Given the description of an element on the screen output the (x, y) to click on. 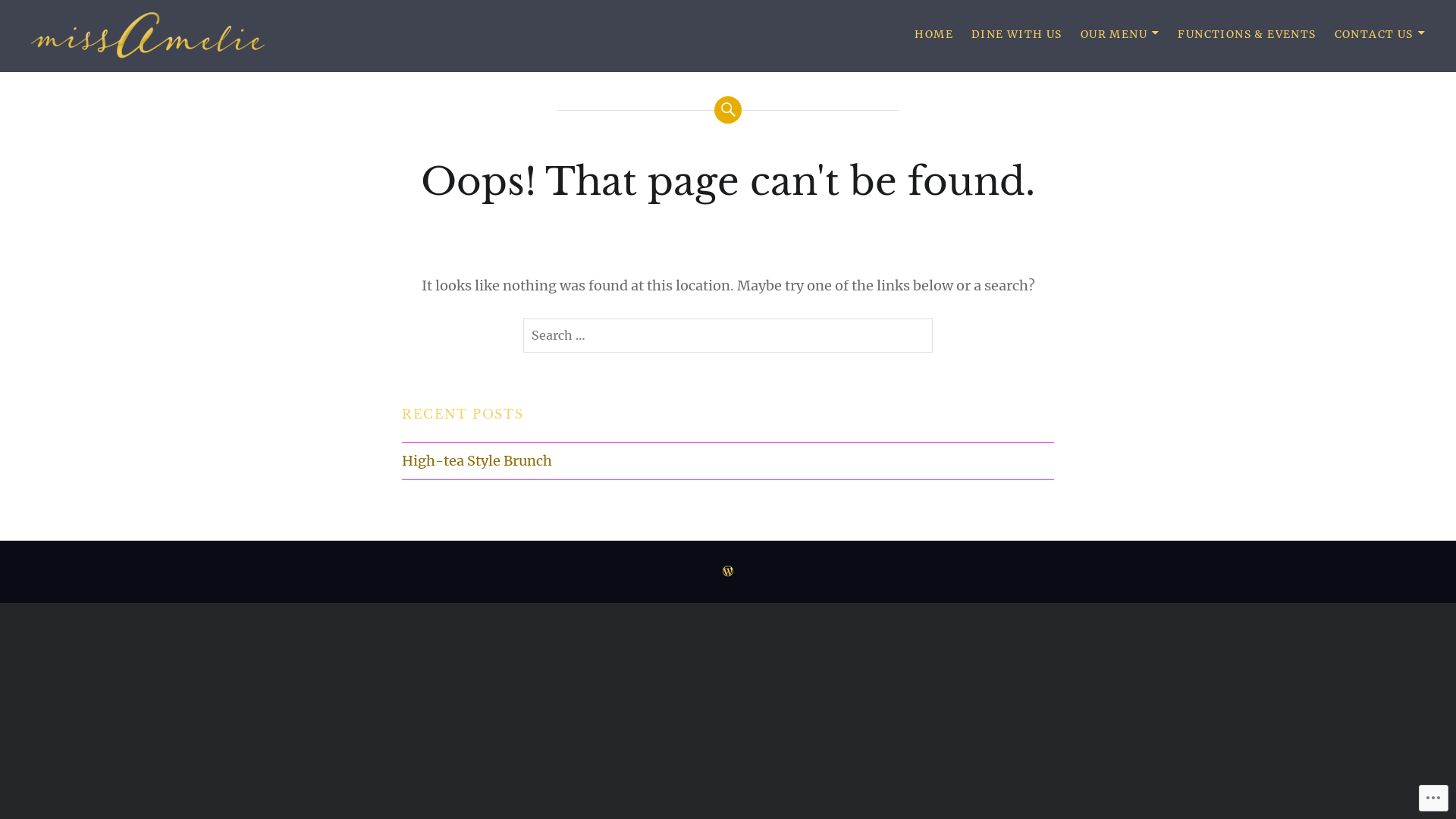
Create a website or blog at WordPress.com Element type: text (727, 571)
HOME Element type: text (933, 34)
Search Element type: text (35, 18)
High-tea Style Brunch Element type: text (727, 460)
Miss Amelie Element type: text (101, 73)
CONTACT US Element type: text (1379, 34)
DINE WITH US Element type: text (1016, 34)
OUR MENU Element type: text (1120, 34)
FUNCTIONS & EVENTS Element type: text (1246, 34)
